Given the description of an element on the screen output the (x, y) to click on. 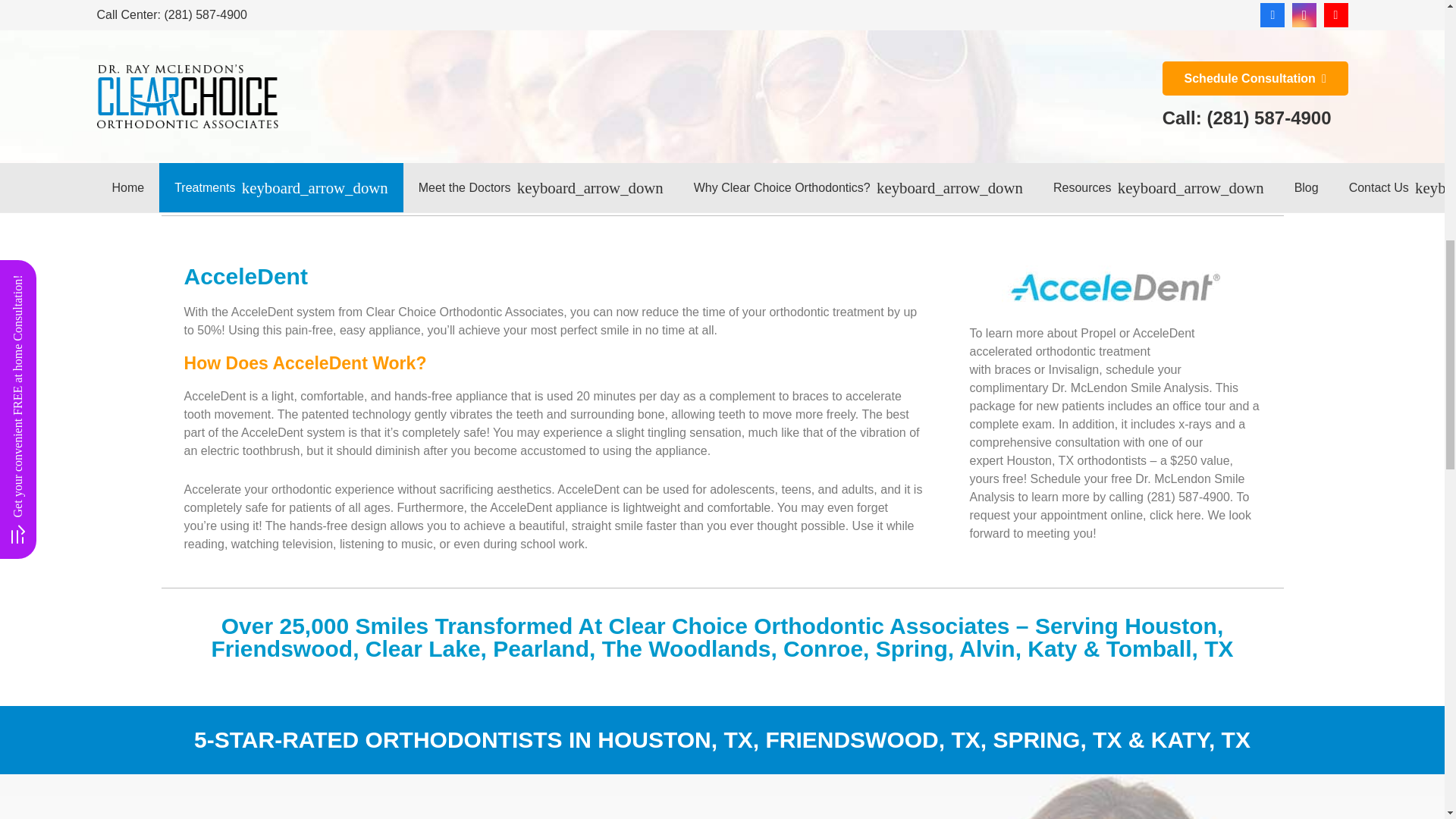
Back to top (1413, 37)
